Given the description of an element on the screen output the (x, y) to click on. 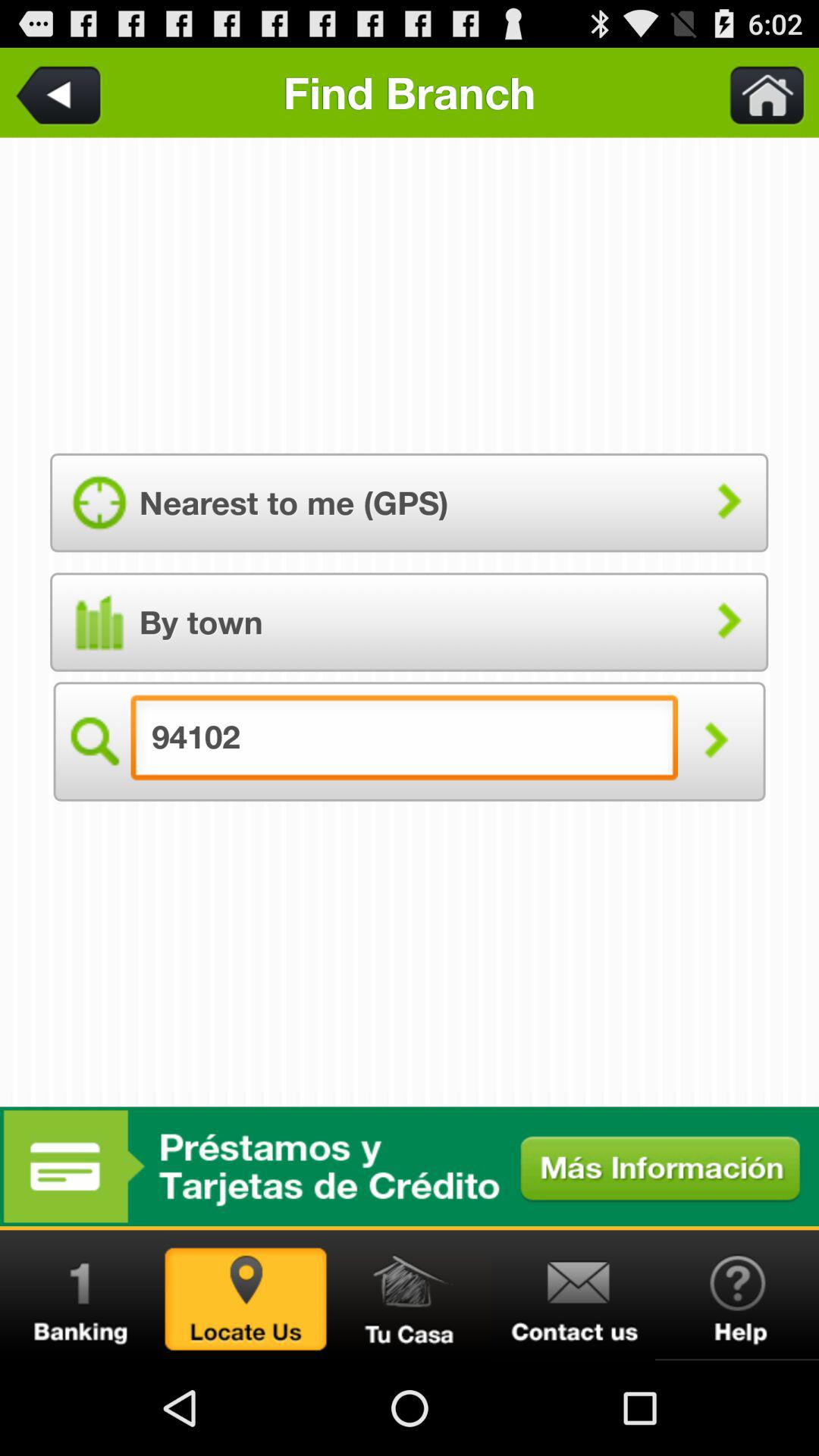
go to homepage (409, 1295)
